Given the description of an element on the screen output the (x, y) to click on. 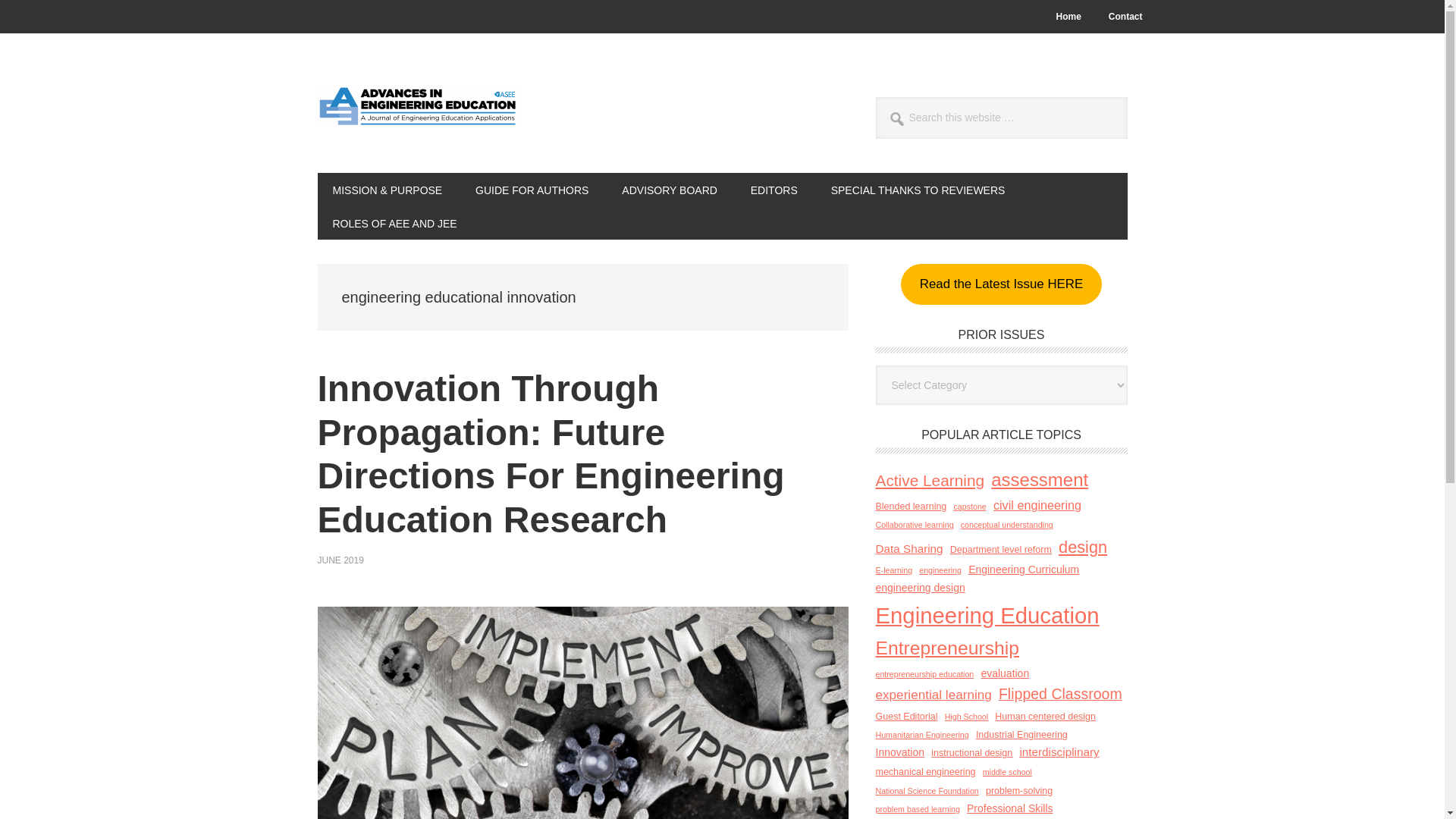
Active Learning (929, 480)
Engineering Education (987, 615)
Department level reform (1000, 549)
GUIDE FOR AUTHORS (532, 189)
capstone (970, 506)
Guest Editorial (906, 716)
design (1082, 546)
entrepreneurship education (924, 674)
High School (966, 716)
Engineering Curriculum (1023, 569)
experiential learning (933, 694)
SPECIAL THANKS TO REVIEWERS (917, 189)
AEE ADVANCES IN ENGINEERING EDUCATION (419, 115)
Flipped Classroom (1060, 694)
